Given the description of an element on the screen output the (x, y) to click on. 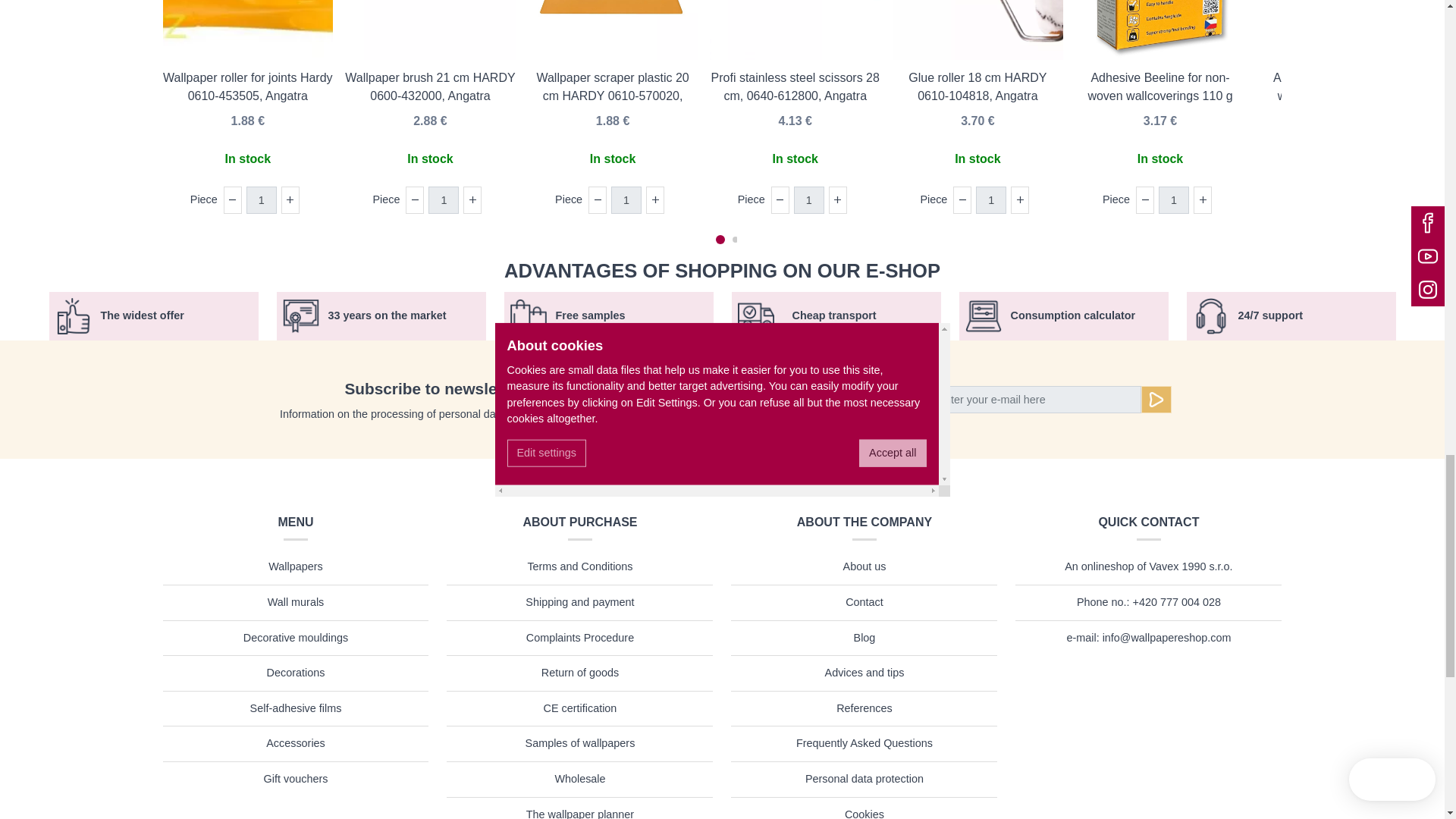
1 (626, 199)
1 (808, 199)
1 (1173, 199)
1 (443, 199)
1 (261, 199)
1 (990, 199)
